Given the description of an element on the screen output the (x, y) to click on. 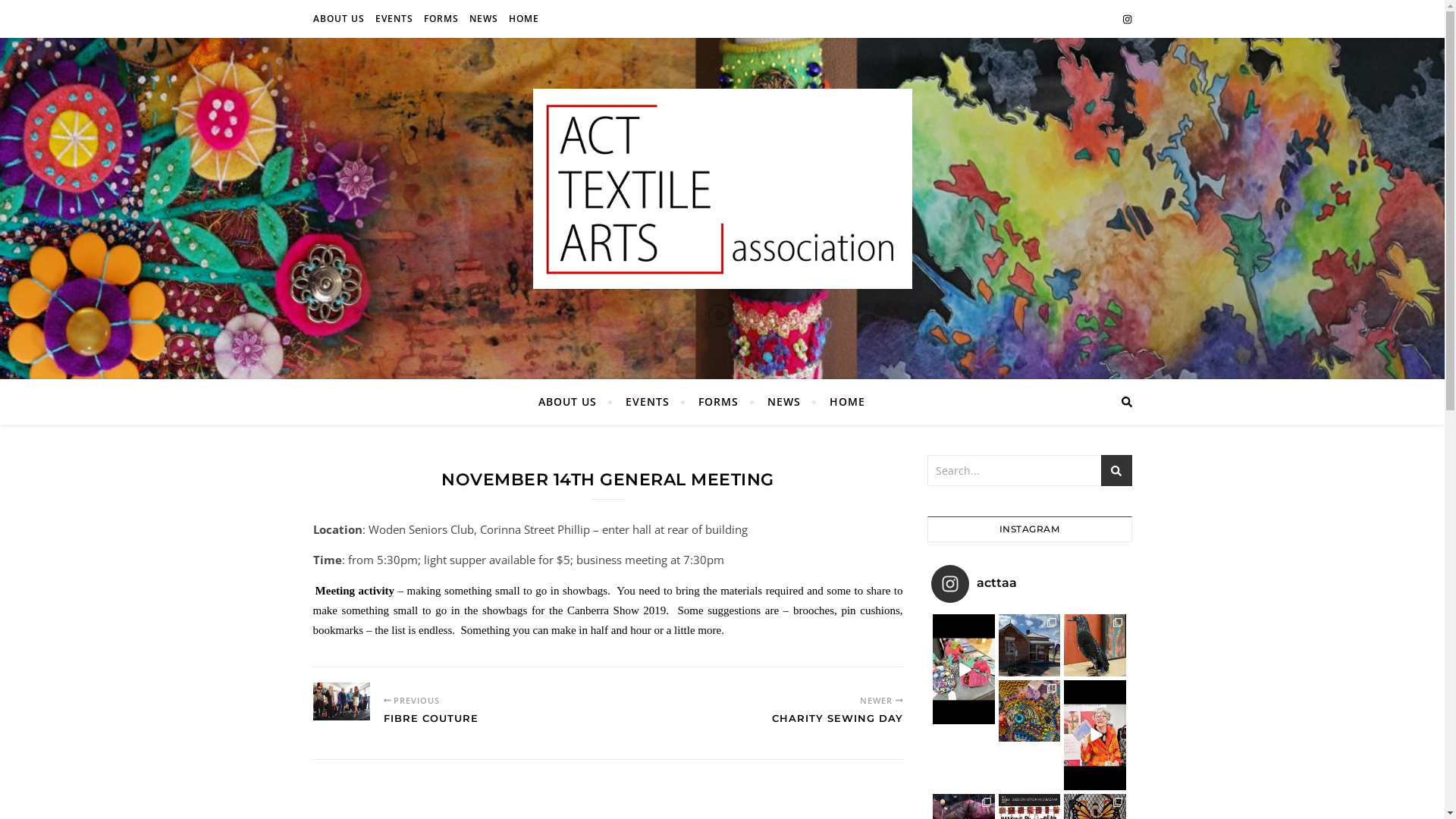
HOME Element type: text (839, 401)
EVENTS Element type: text (647, 401)
ABOUT US Element type: text (573, 401)
Fibre Couture Element type: hover (340, 701)
NEWS Element type: text (483, 18)
ABOUT US Element type: text (339, 18)
FIBRE COUTURE Element type: text (430, 725)
CHARITY SEWING DAY Element type: text (837, 725)
ACT Textile Arts Association Element type: hover (721, 188)
EVENTS Element type: text (394, 18)
FORMS Element type: text (718, 401)
NEWS Element type: text (782, 401)
FORMS Element type: text (441, 18)
st Element type: text (1116, 470)
HOME Element type: text (522, 18)
acttaa Element type: text (1029, 583)
